Given the description of an element on the screen output the (x, y) to click on. 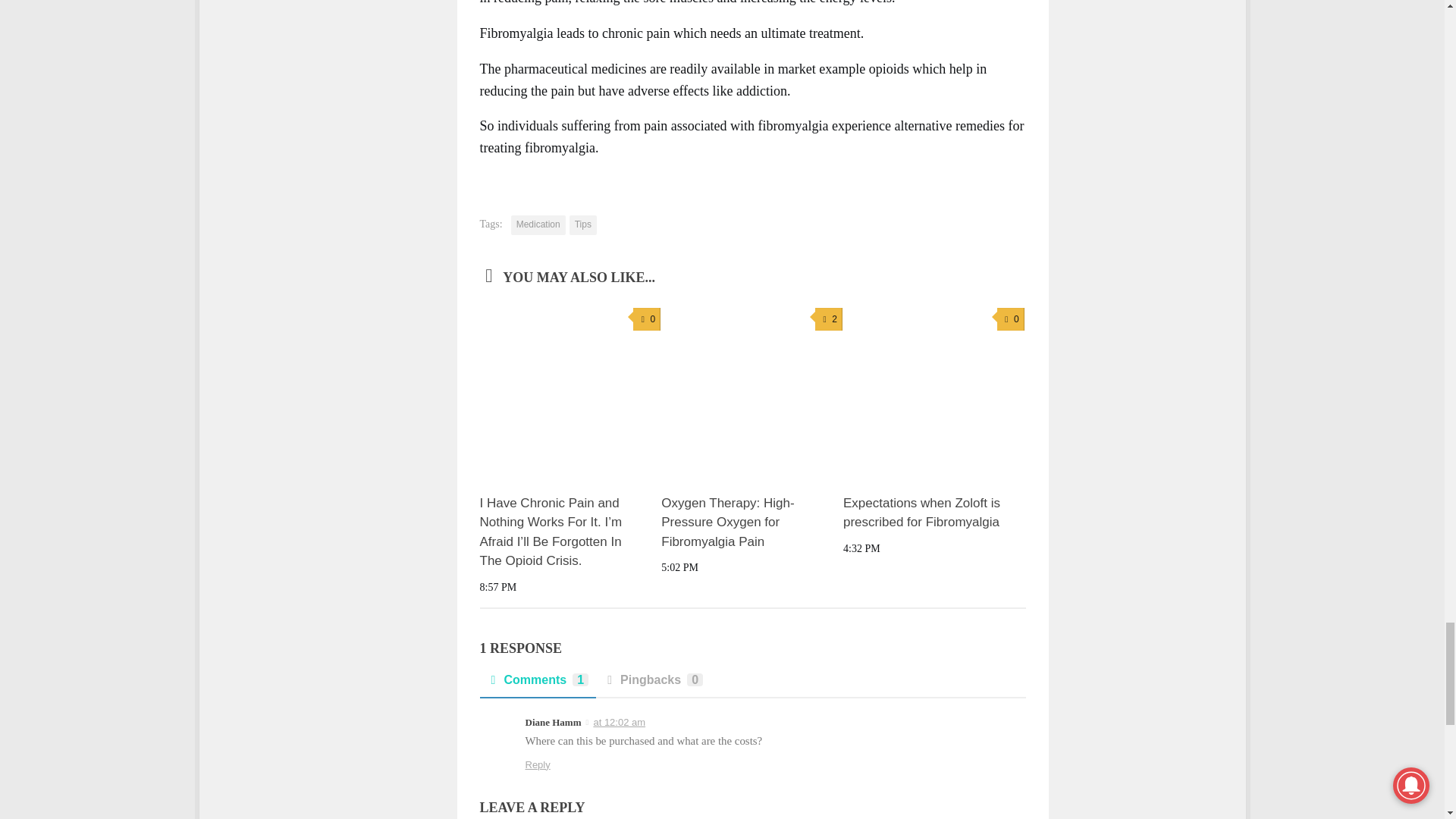
Tips (582, 225)
0 (647, 319)
Medication (538, 225)
